Given the description of an element on the screen output the (x, y) to click on. 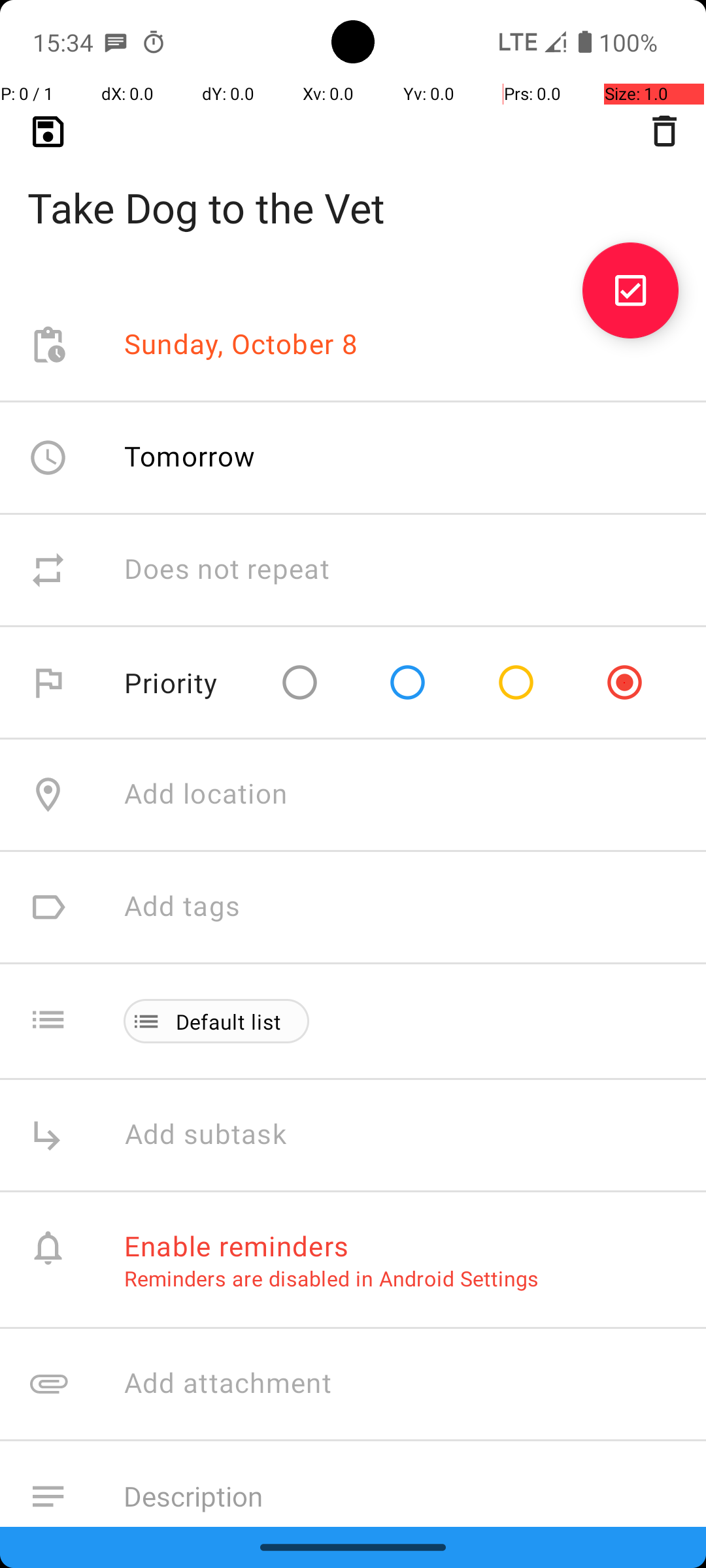
Sunday, October 8 Element type: android.widget.TextView (240, 344)
